Given the description of an element on the screen output the (x, y) to click on. 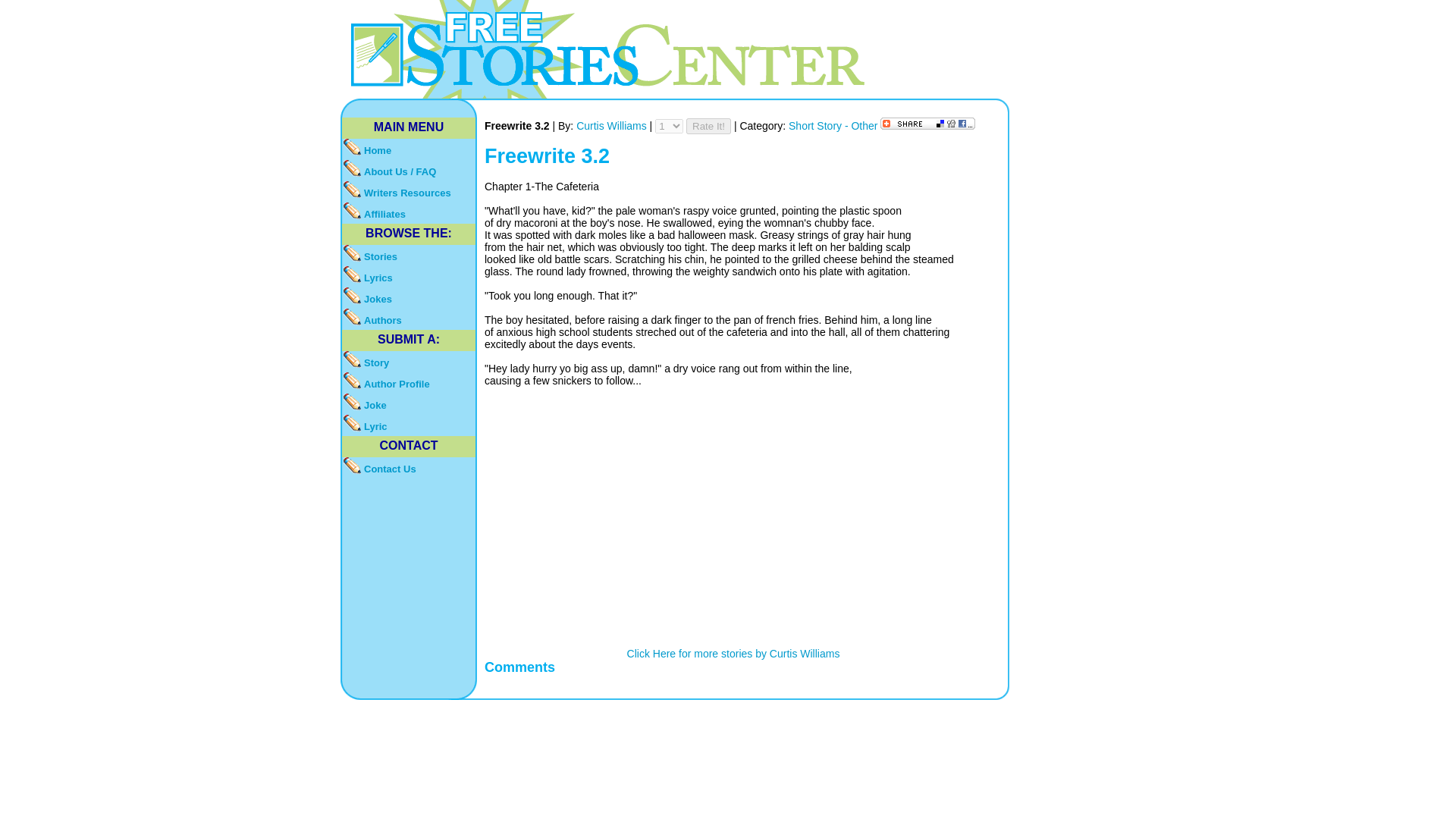
Writers Resources (409, 191)
Contact Us (409, 467)
Curtis Williams (612, 125)
Lyrics (409, 276)
Rate It! (707, 125)
Affiliates (409, 212)
Jokes (409, 297)
Joke (409, 403)
Lyric (409, 424)
Authors (409, 319)
Story (409, 361)
Short Story - Other (834, 125)
Click Here for more stories by Curtis Williams (733, 653)
Rate It! (707, 125)
Stories (409, 255)
